Given the description of an element on the screen output the (x, y) to click on. 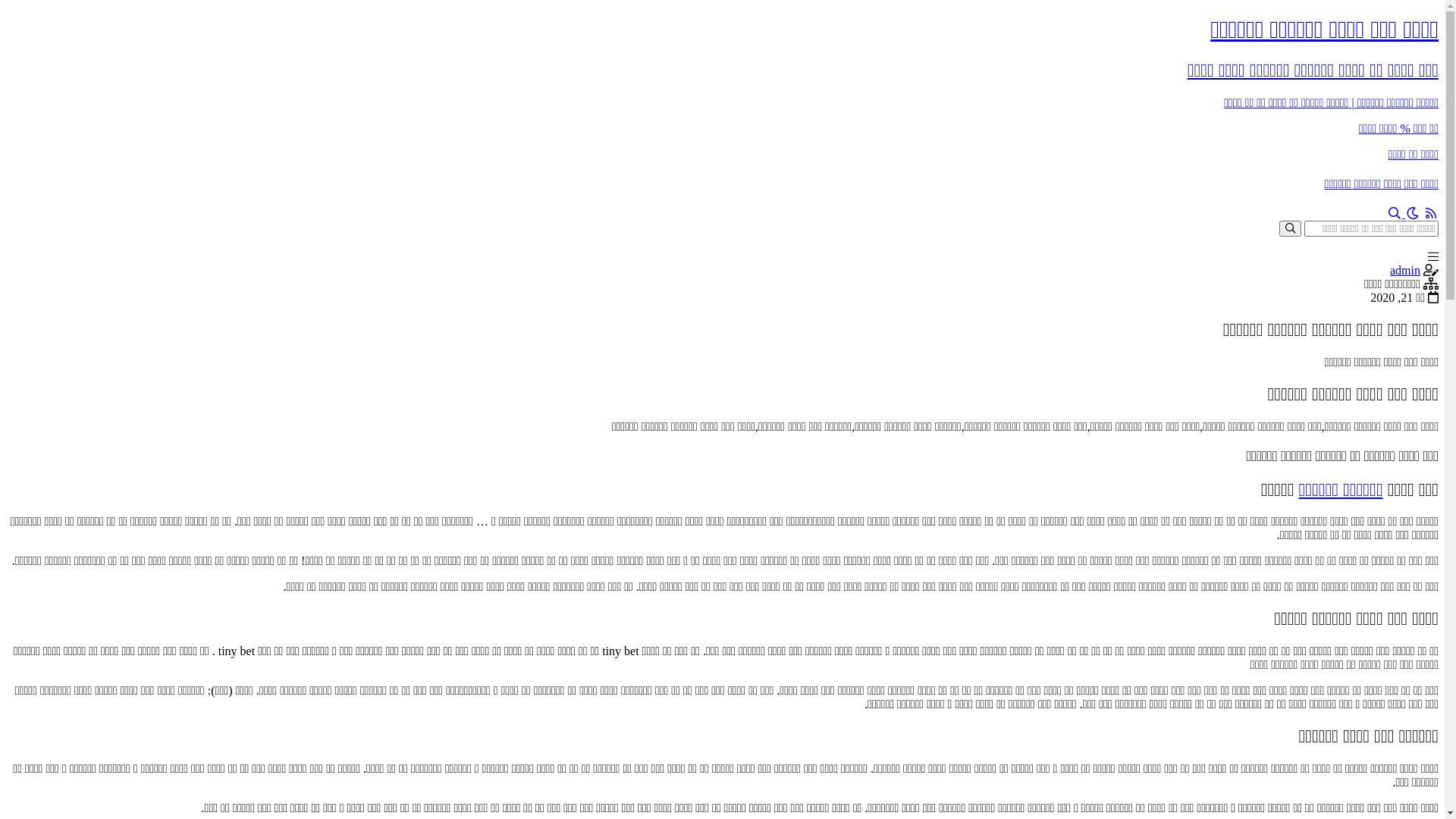
admin Element type: text (1405, 269)
